Given the description of an element on the screen output the (x, y) to click on. 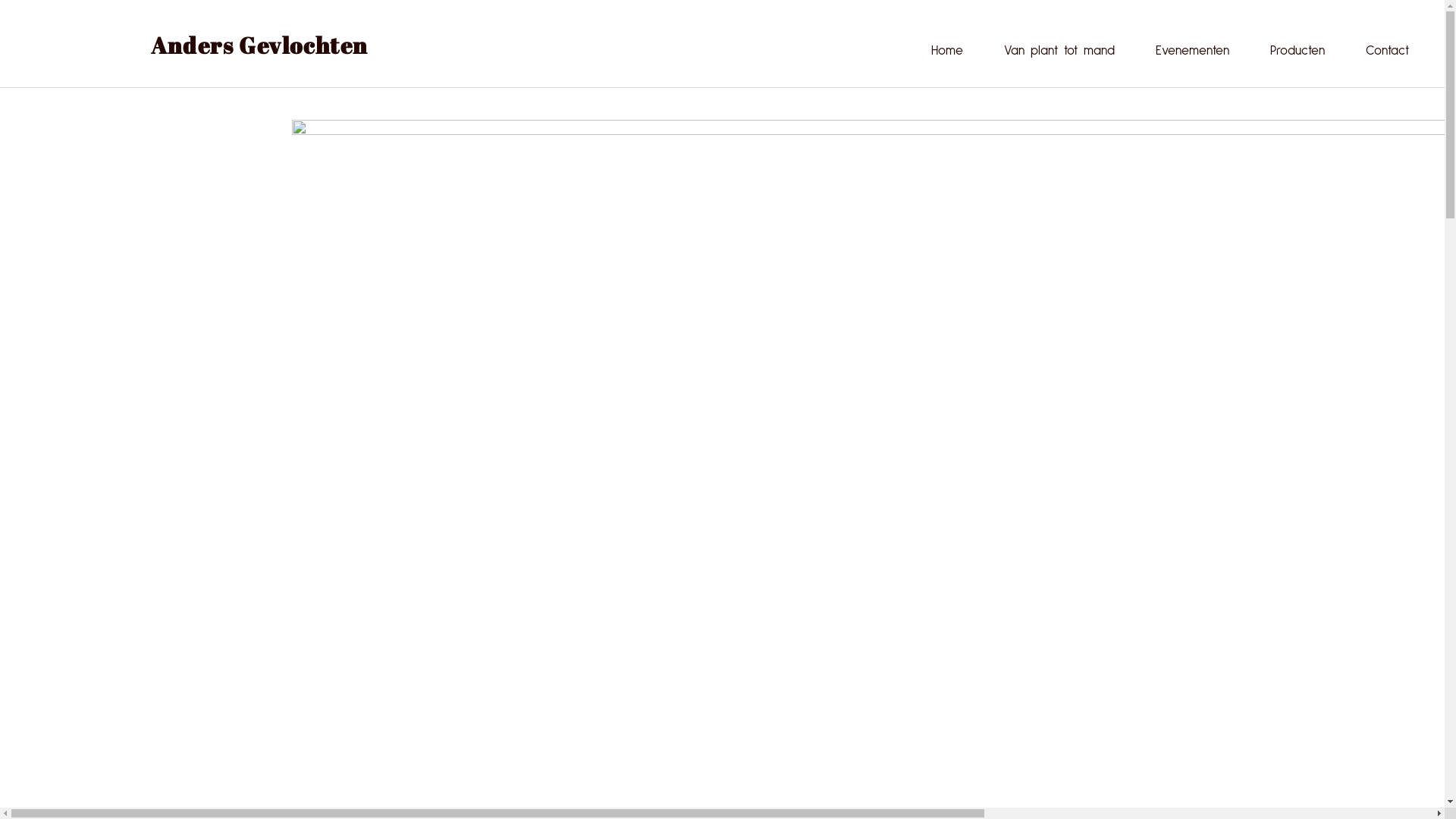
Van plant tot mand Element type: text (1059, 50)
Home Element type: text (946, 50)
Anders Gevlochten Element type: text (258, 44)
Evenementen Element type: text (1192, 50)
Producten Element type: text (1297, 50)
Contact Element type: text (1387, 50)
